Given the description of an element on the screen output the (x, y) to click on. 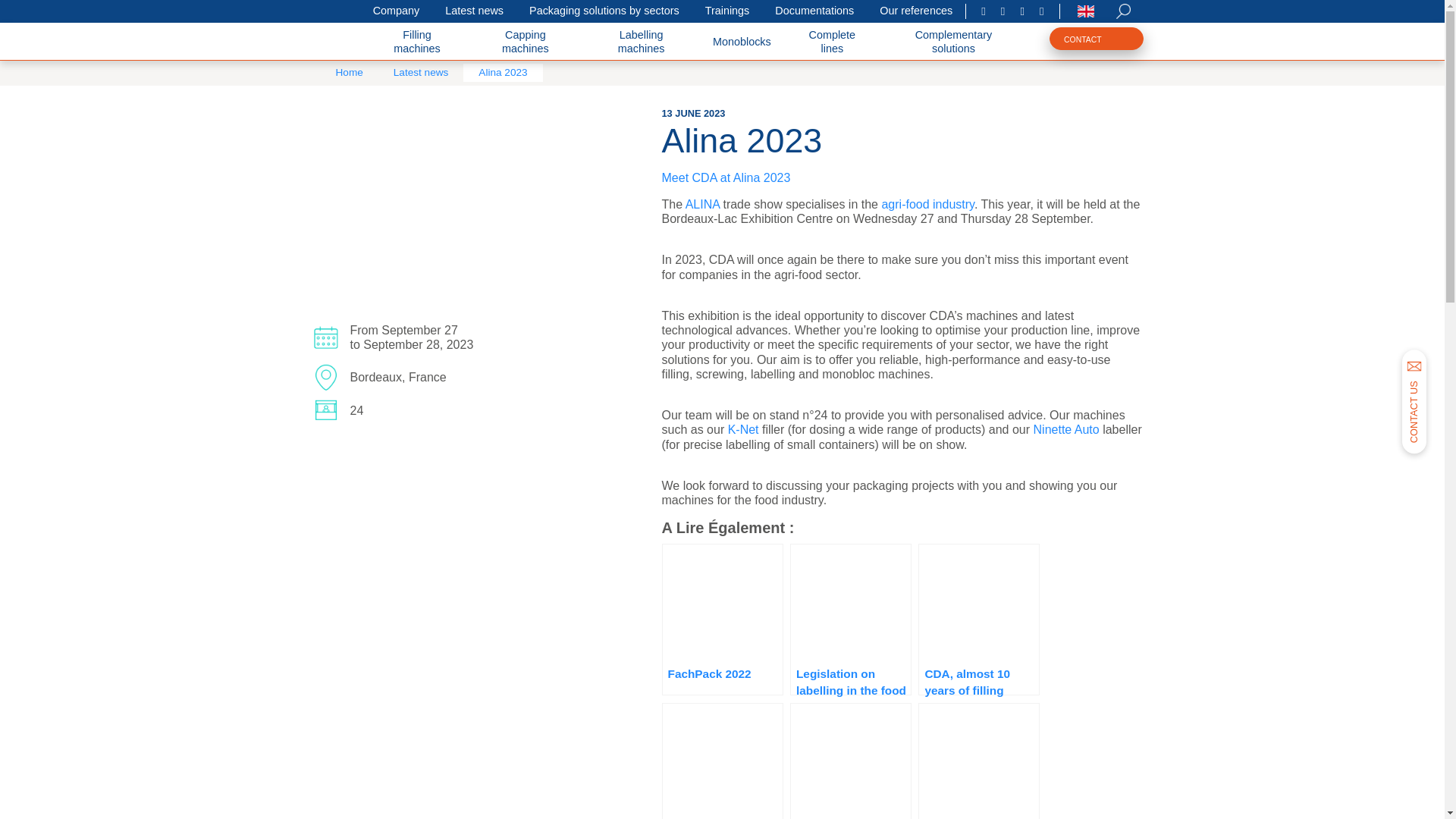
Documentations (814, 10)
Pharmacosmetech 2019 (850, 760)
Trainings (727, 10)
Company (396, 10)
Filling machines (416, 41)
Labelling machines (641, 41)
Latest news (473, 10)
Our references (916, 10)
Capping machines (525, 41)
CFIA Rennes 2019 (978, 760)
